Given the description of an element on the screen output the (x, y) to click on. 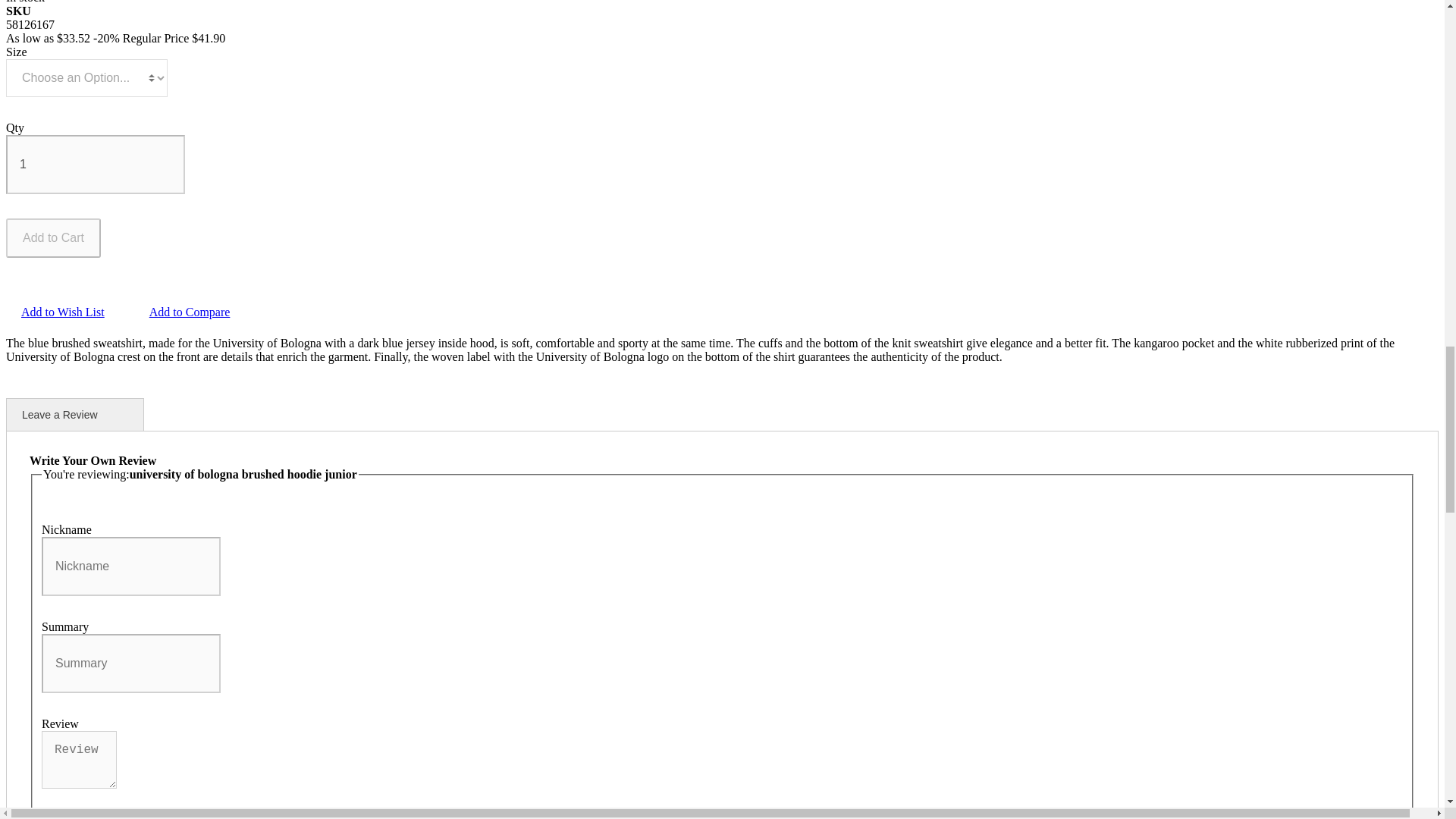
Add to Cart (52, 237)
1 (94, 164)
Qty (94, 164)
